Given the description of an element on the screen output the (x, y) to click on. 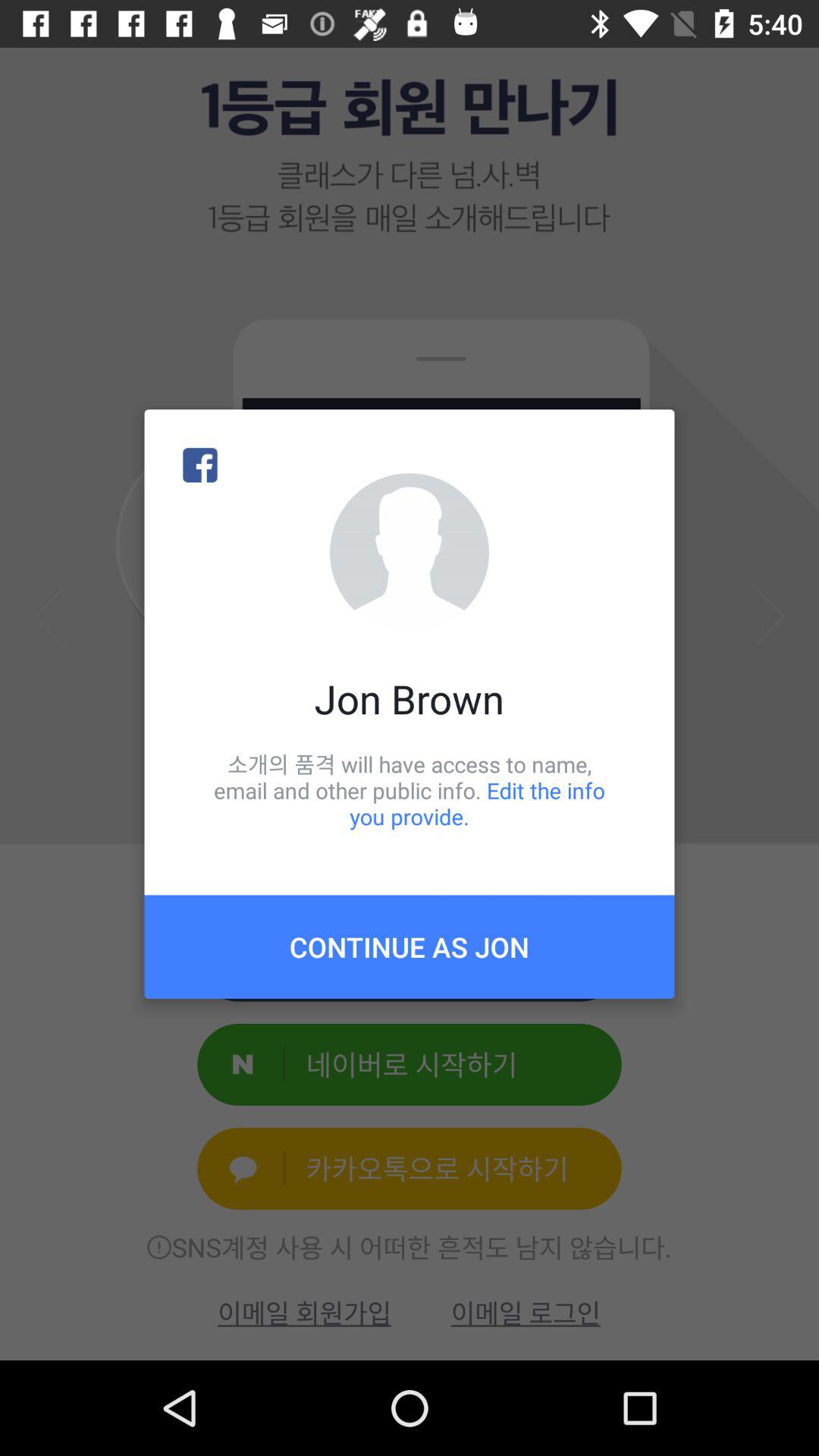
choose the item above the continue as jon icon (409, 790)
